Given the description of an element on the screen output the (x, y) to click on. 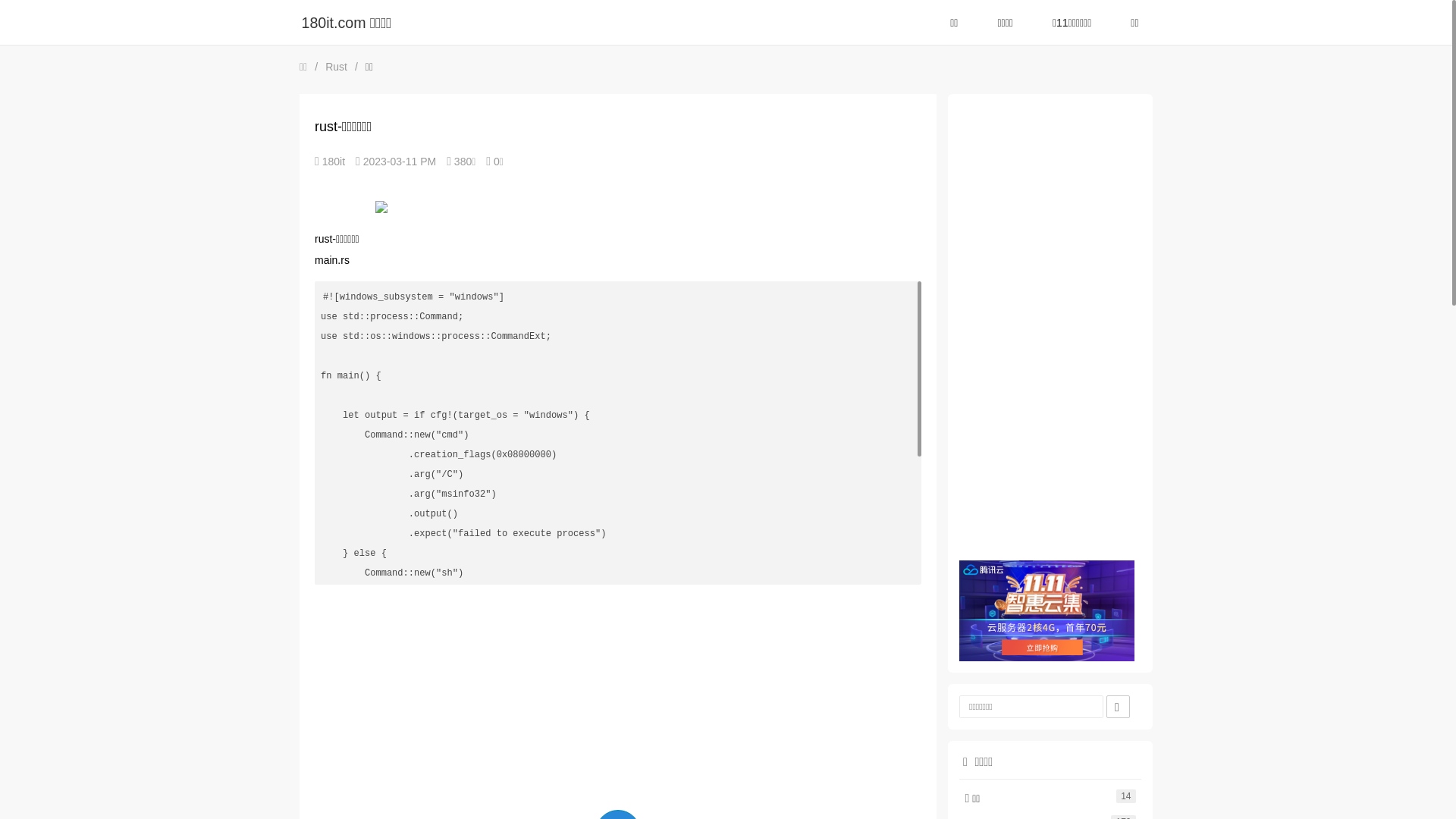
Advertisement Element type: hover (1050, 331)
Advertisement Element type: hover (617, 699)
Rust Element type: text (336, 66)
